Given the description of an element on the screen output the (x, y) to click on. 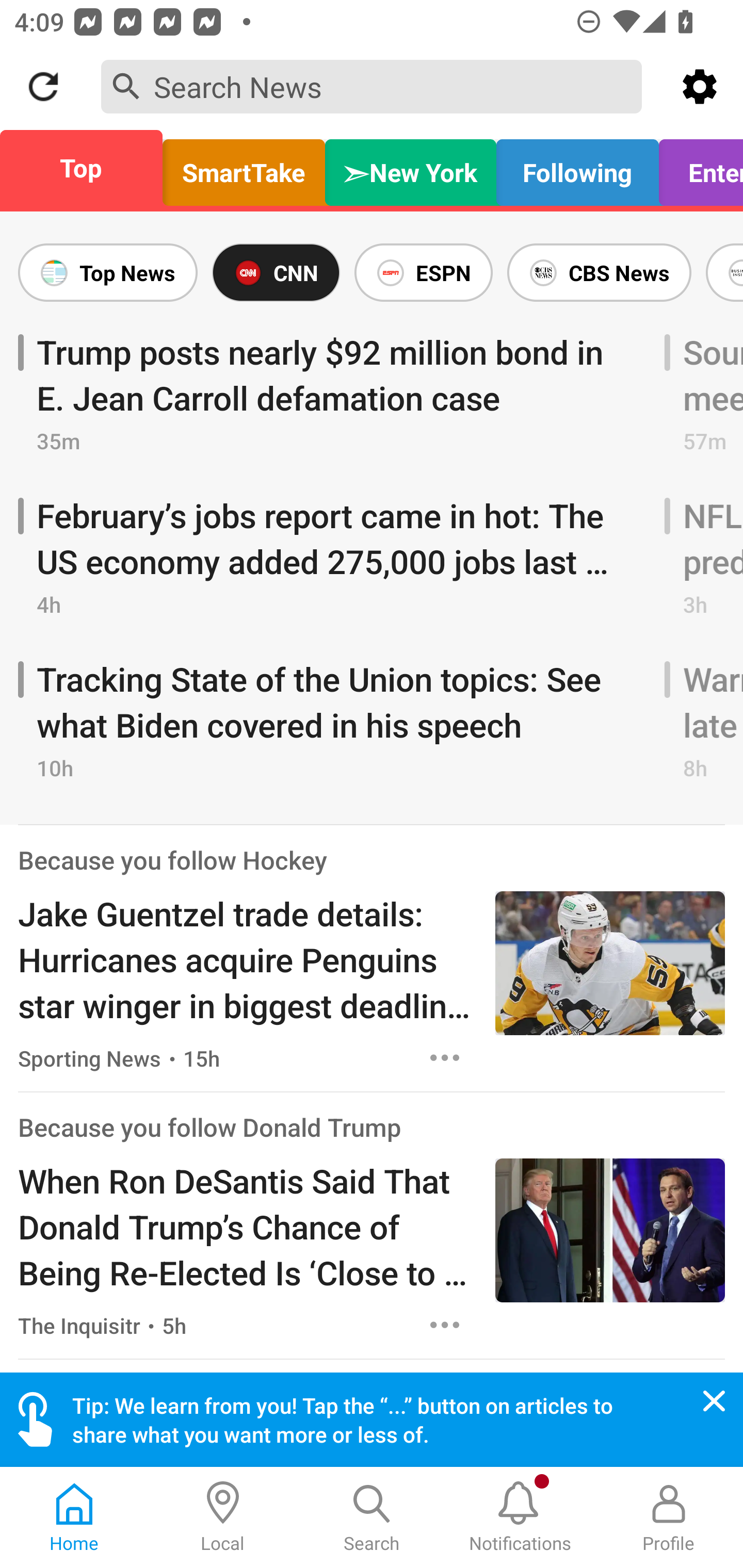
Search News (371, 85)
Top (86, 167)
SmartTake (243, 167)
➣New York (410, 167)
Following (577, 167)
Top News (111, 272)
ESPN (423, 272)
CBS News (599, 272)
Because you follow Hockey (171, 859)
Options (444, 1057)
Because you follow Donald Trump (209, 1127)
Options (444, 1324)
Close (714, 1401)
Local (222, 1517)
Search (371, 1517)
Notifications, New notification Notifications (519, 1517)
Profile (668, 1517)
